Given the description of an element on the screen output the (x, y) to click on. 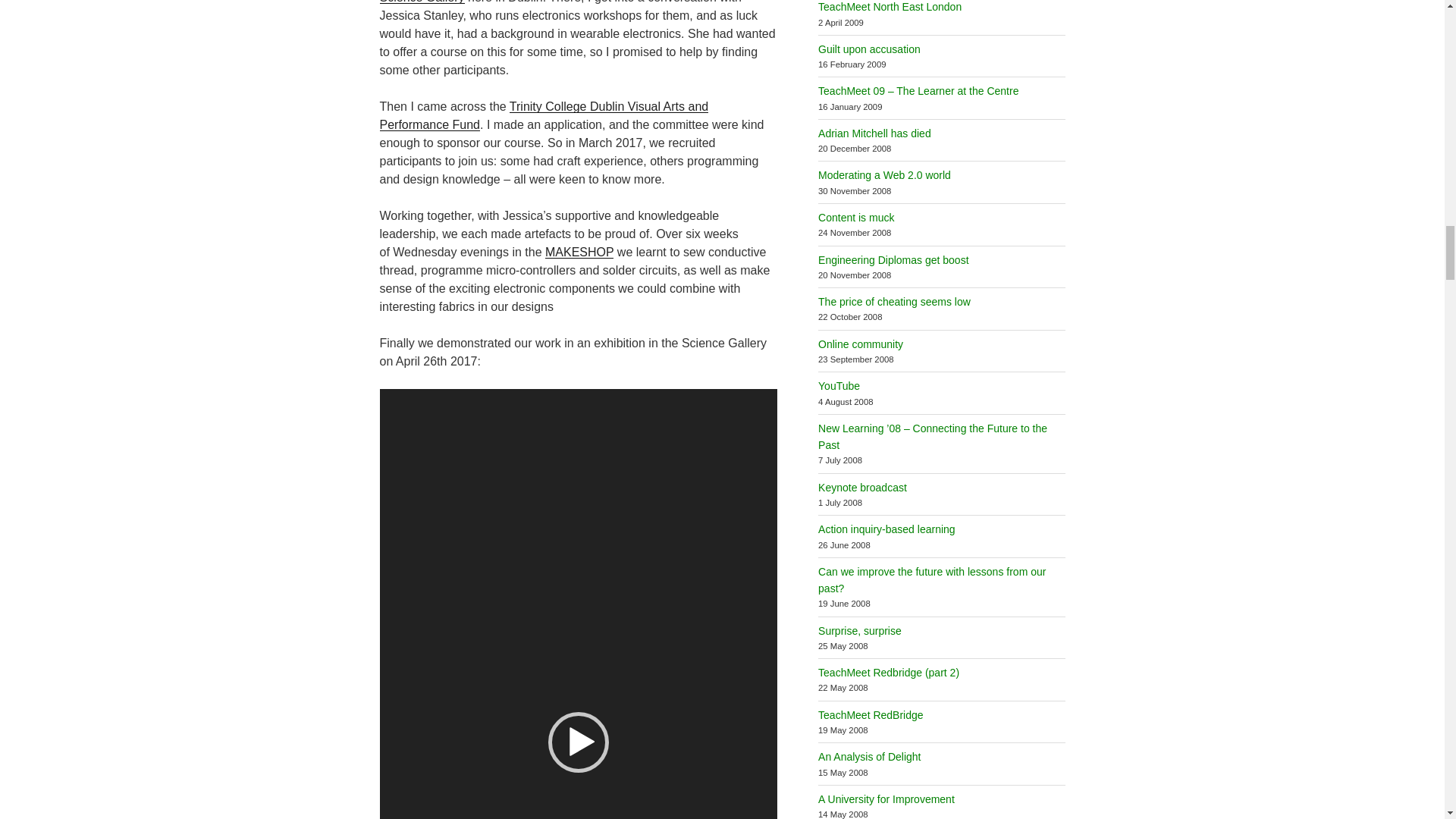
MAKESHOP (578, 251)
Science Gallery (421, 2)
Trinity College Dublin Visual Arts and Performance Fund (542, 115)
